Given the description of an element on the screen output the (x, y) to click on. 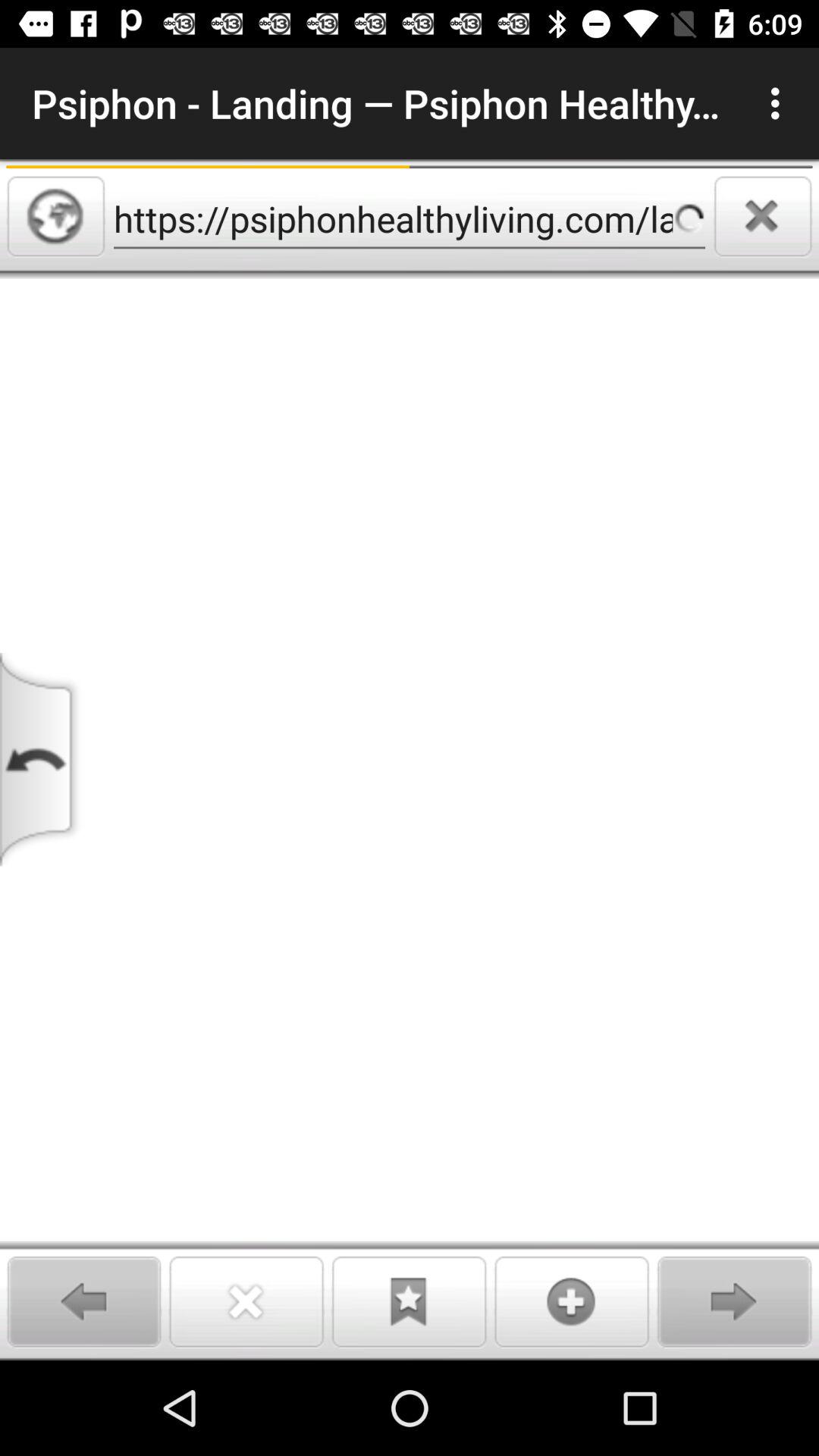
add to bookmarks (409, 1301)
